Given the description of an element on the screen output the (x, y) to click on. 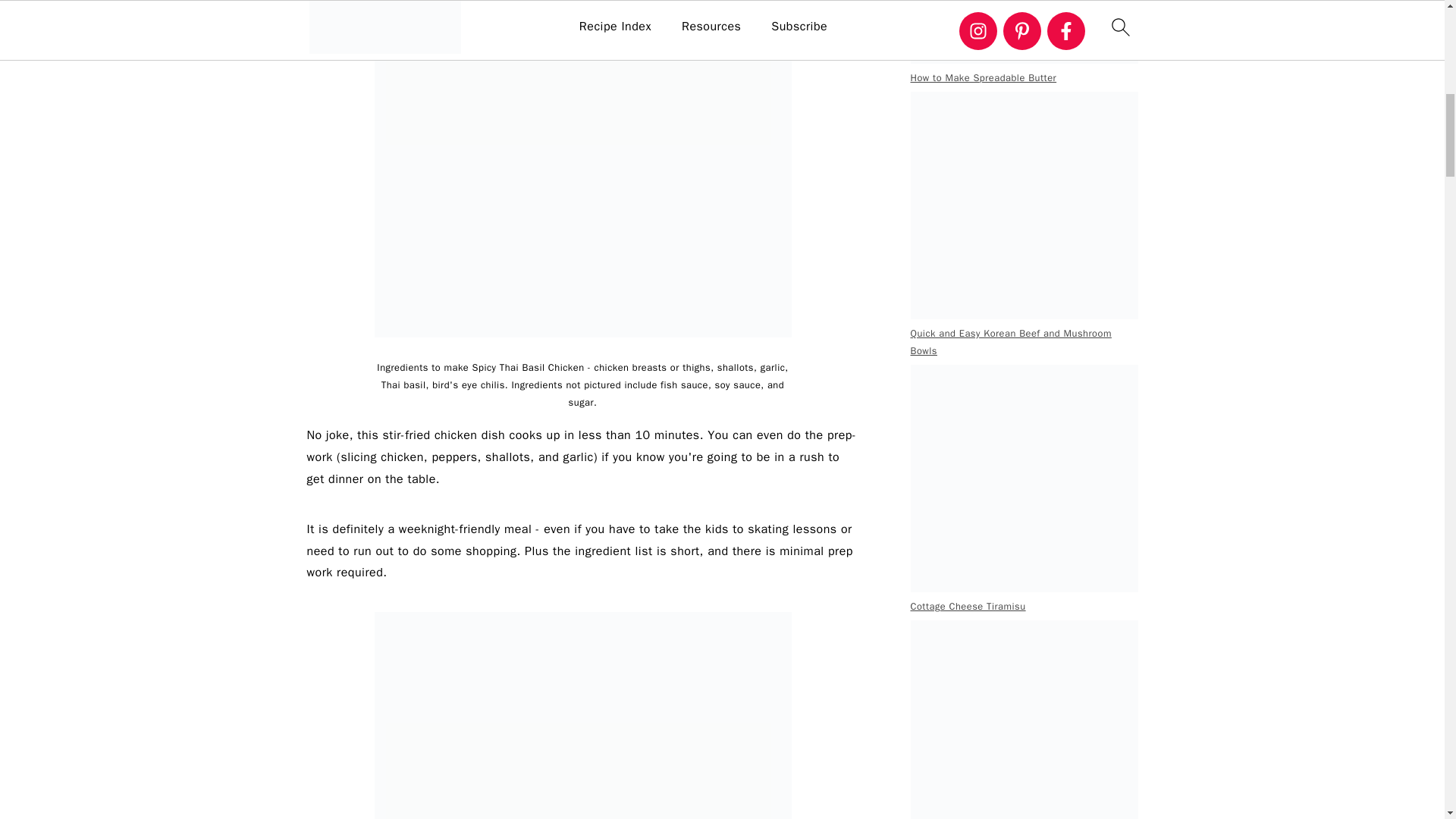
Quick and Easy Korean Beef and Mushroom Bowls (1023, 205)
Spicy Thai Basil Chicken (583, 715)
Cottage Cheese Tiramisu (1023, 478)
How to Make Spreadable Butter (1023, 31)
